Given the description of an element on the screen output the (x, y) to click on. 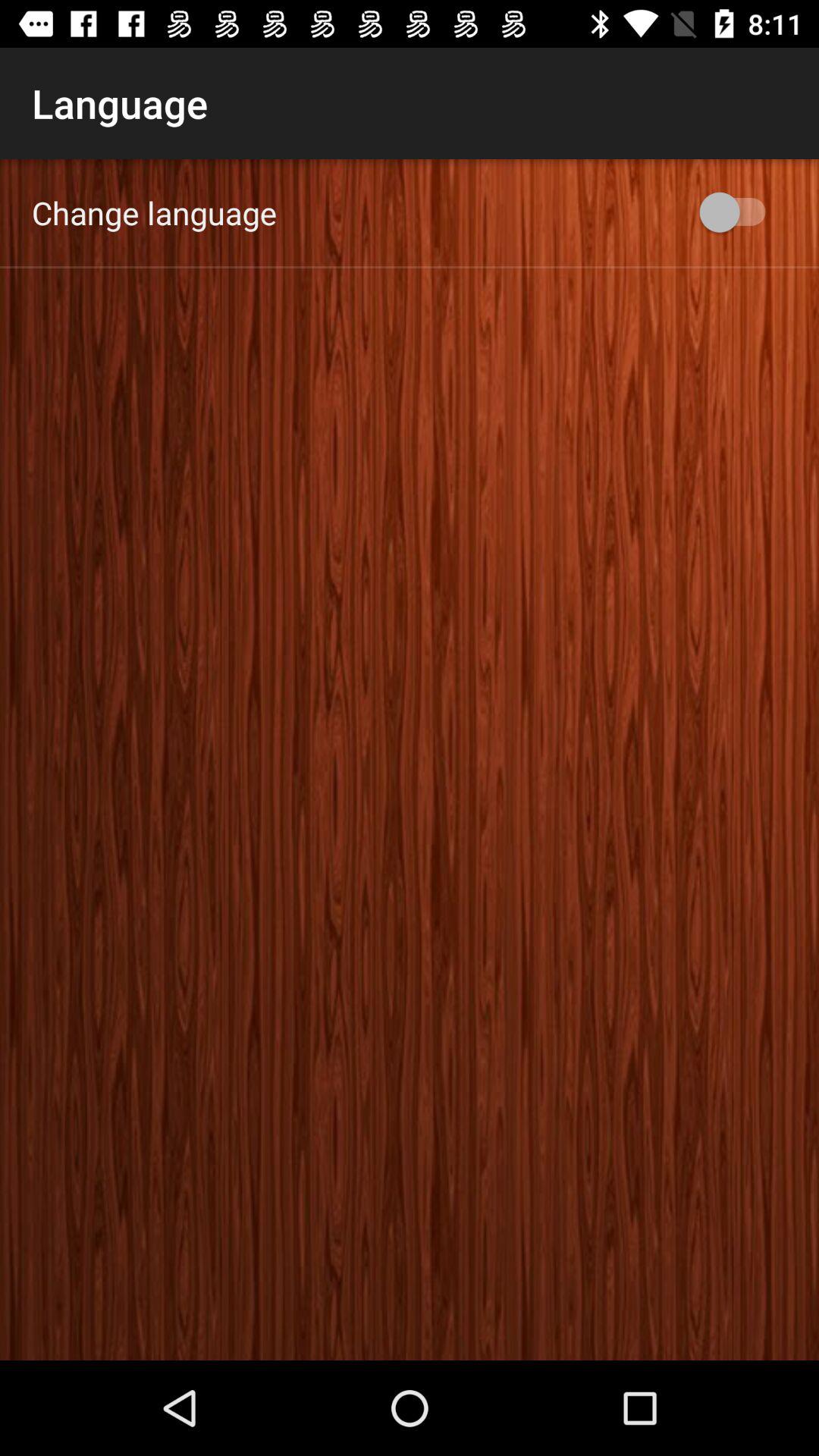
choose the change language app (153, 212)
